Given the description of an element on the screen output the (x, y) to click on. 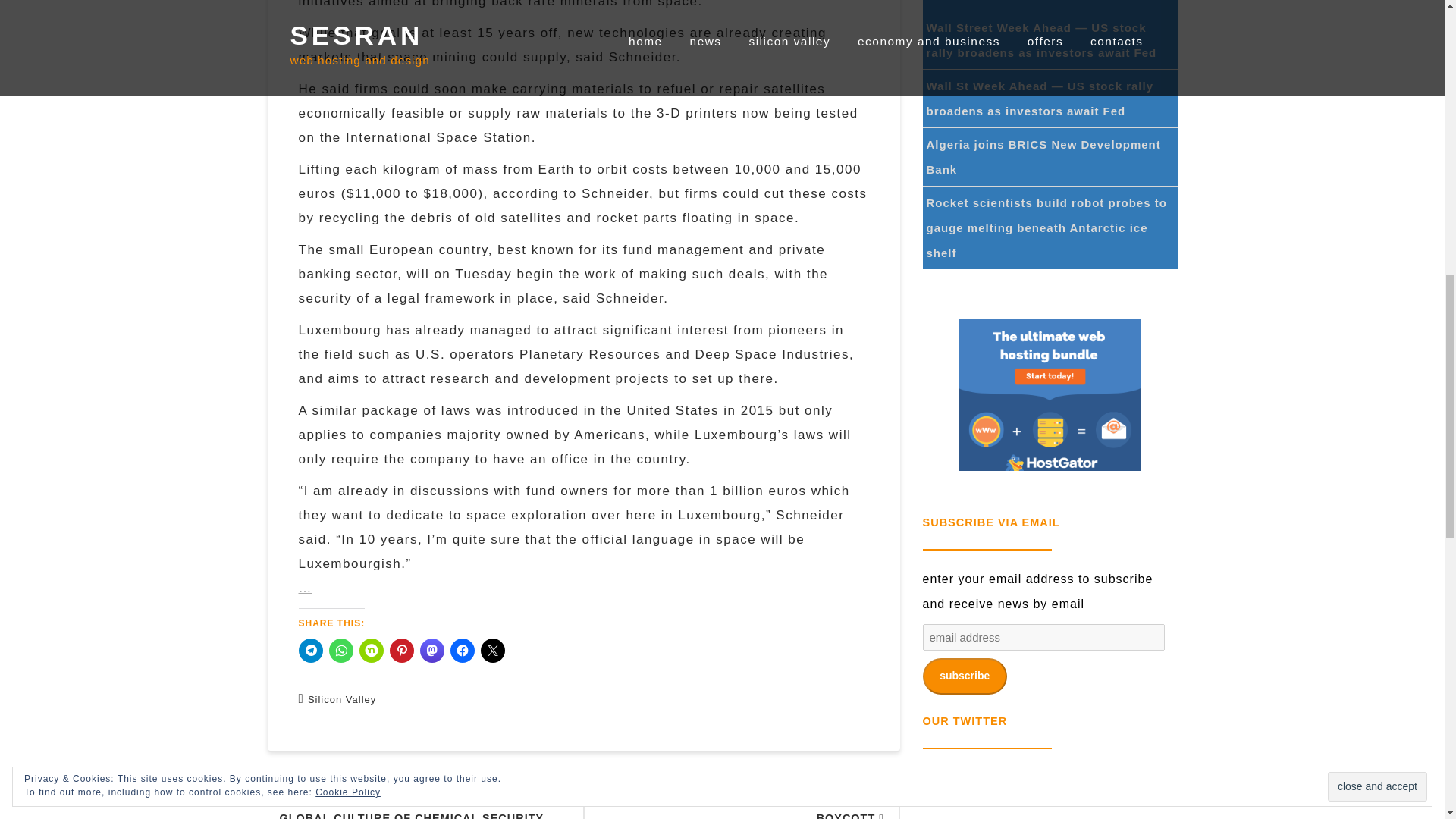
Click to share on Facebook (461, 650)
QATAR FILES WTO COMPLAINT AGAINST TRADE BOYCOTT (741, 795)
subscribe (963, 676)
Click to share on Pinterest (401, 650)
Click to share on WhatsApp (341, 650)
Click to share on Mastodon (432, 650)
Click to share on Nextdoor (371, 650)
Algeria joins BRICS New Development Bank  (1043, 157)
